Given the description of an element on the screen output the (x, y) to click on. 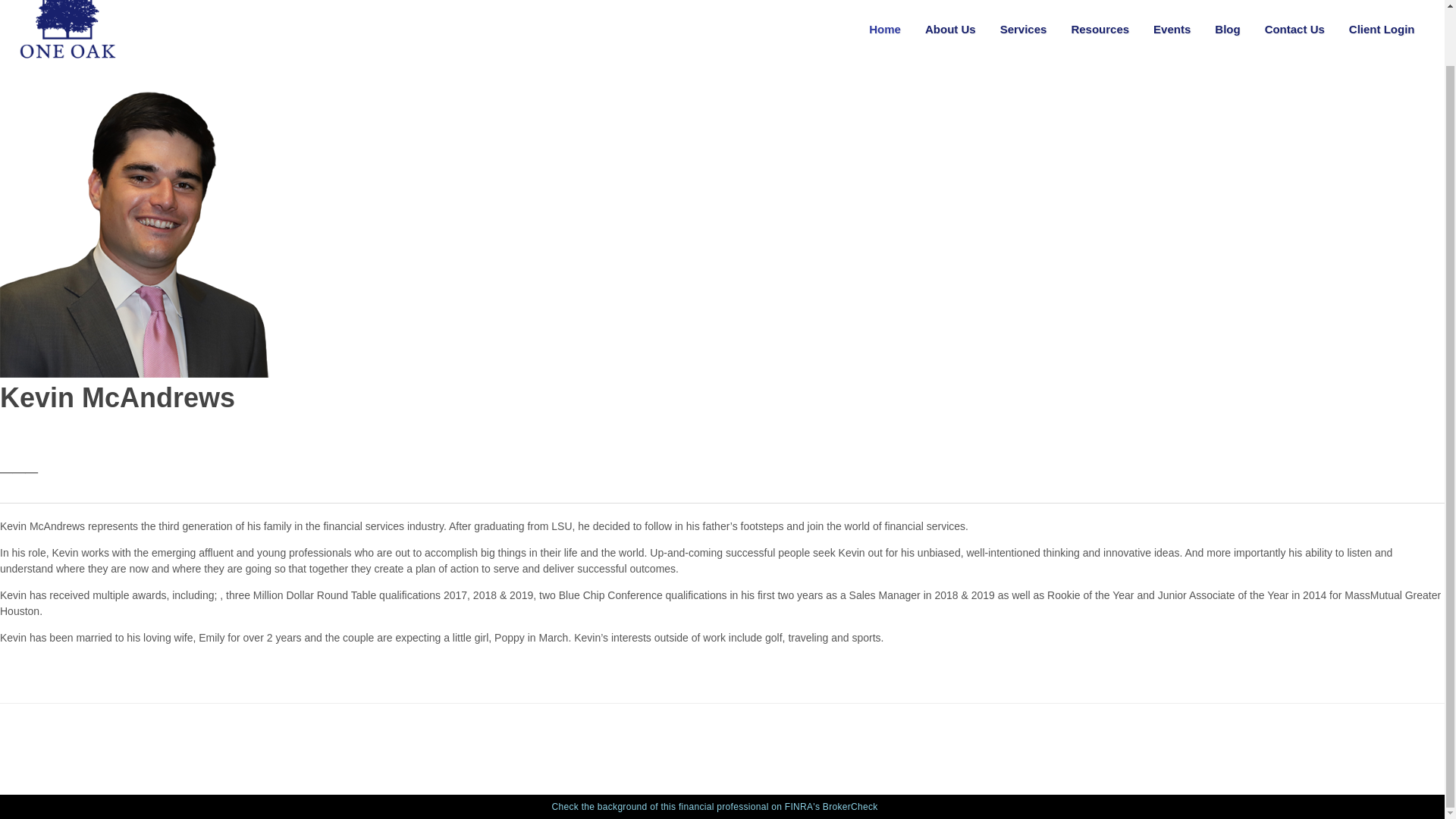
Contact Us (1294, 33)
Client Login (1382, 33)
Resources (1099, 33)
Services (1023, 33)
Events (1171, 33)
About Us (950, 33)
